Given the description of an element on the screen output the (x, y) to click on. 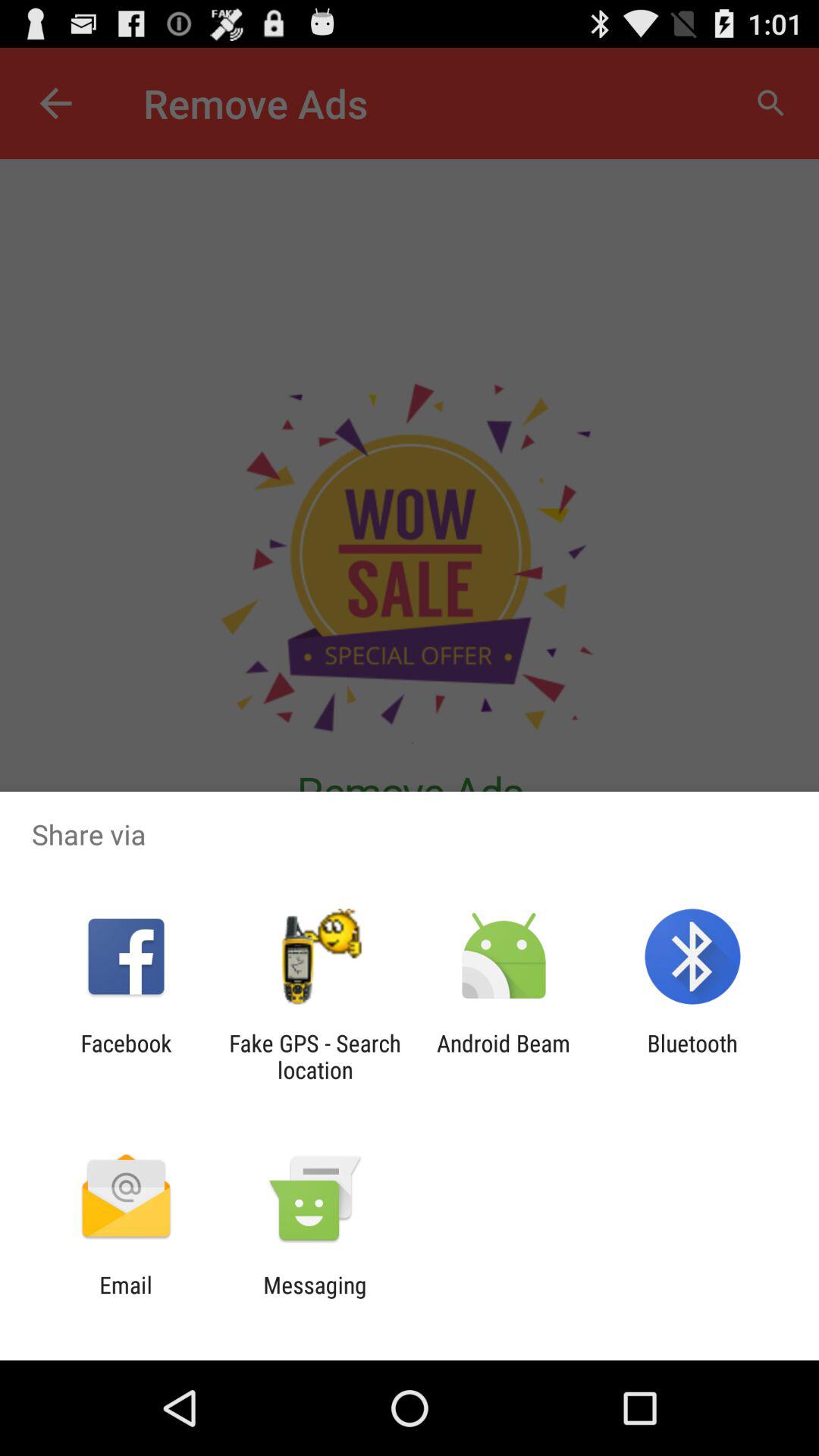
click the icon to the left of the bluetooth app (503, 1056)
